Given the description of an element on the screen output the (x, y) to click on. 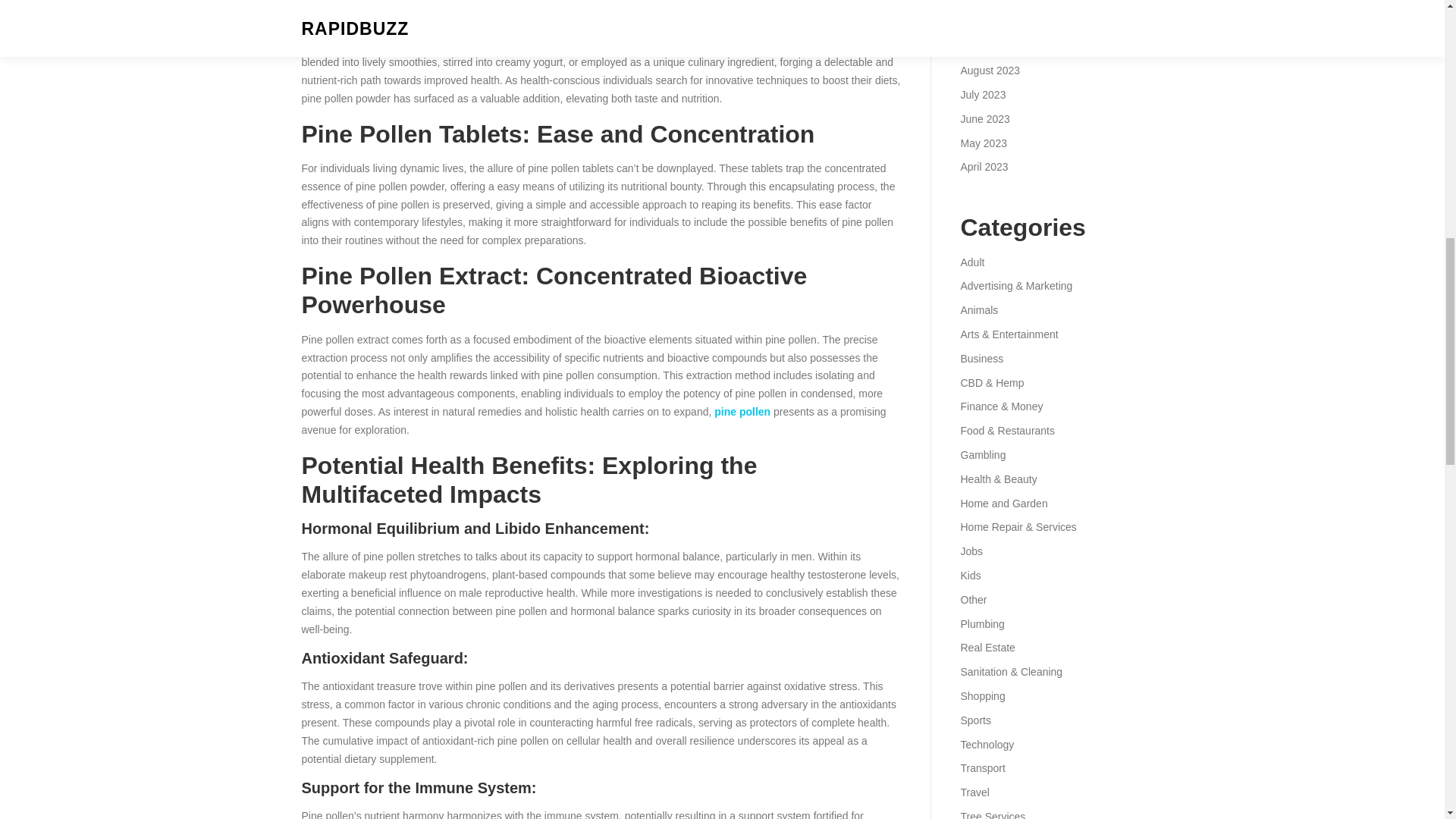
Adult (971, 262)
April 2023 (983, 166)
Animals (978, 309)
May 2023 (982, 143)
November 2023 (997, 2)
July 2023 (982, 94)
pine pollen (742, 411)
August 2023 (989, 70)
Business (981, 358)
October 2023 (992, 22)
September 2023 (999, 46)
June 2023 (984, 119)
